Given the description of an element on the screen output the (x, y) to click on. 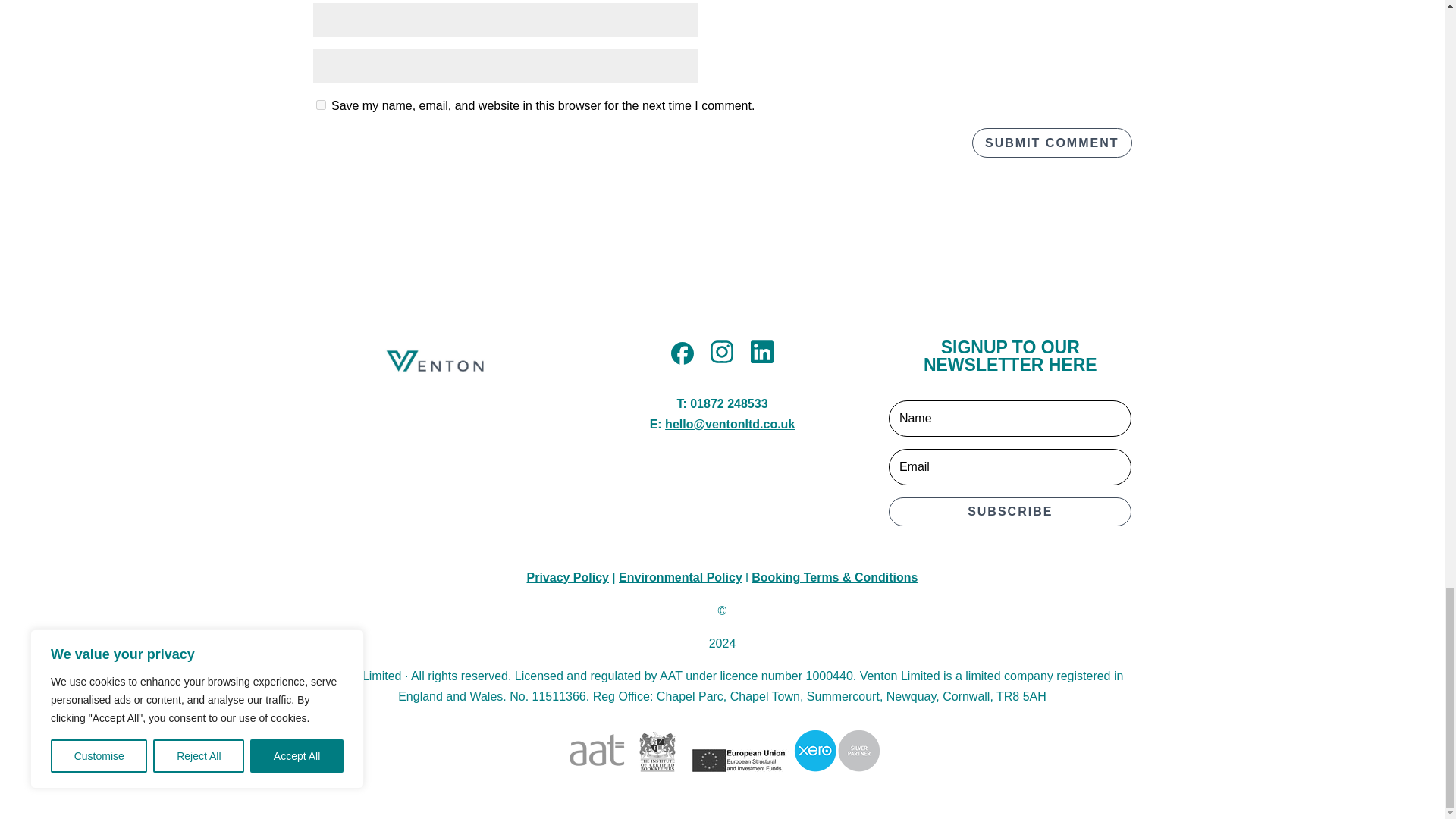
yes (319, 104)
Submit Comment (1051, 142)
Full Logo (434, 363)
